Given the description of an element on the screen output the (x, y) to click on. 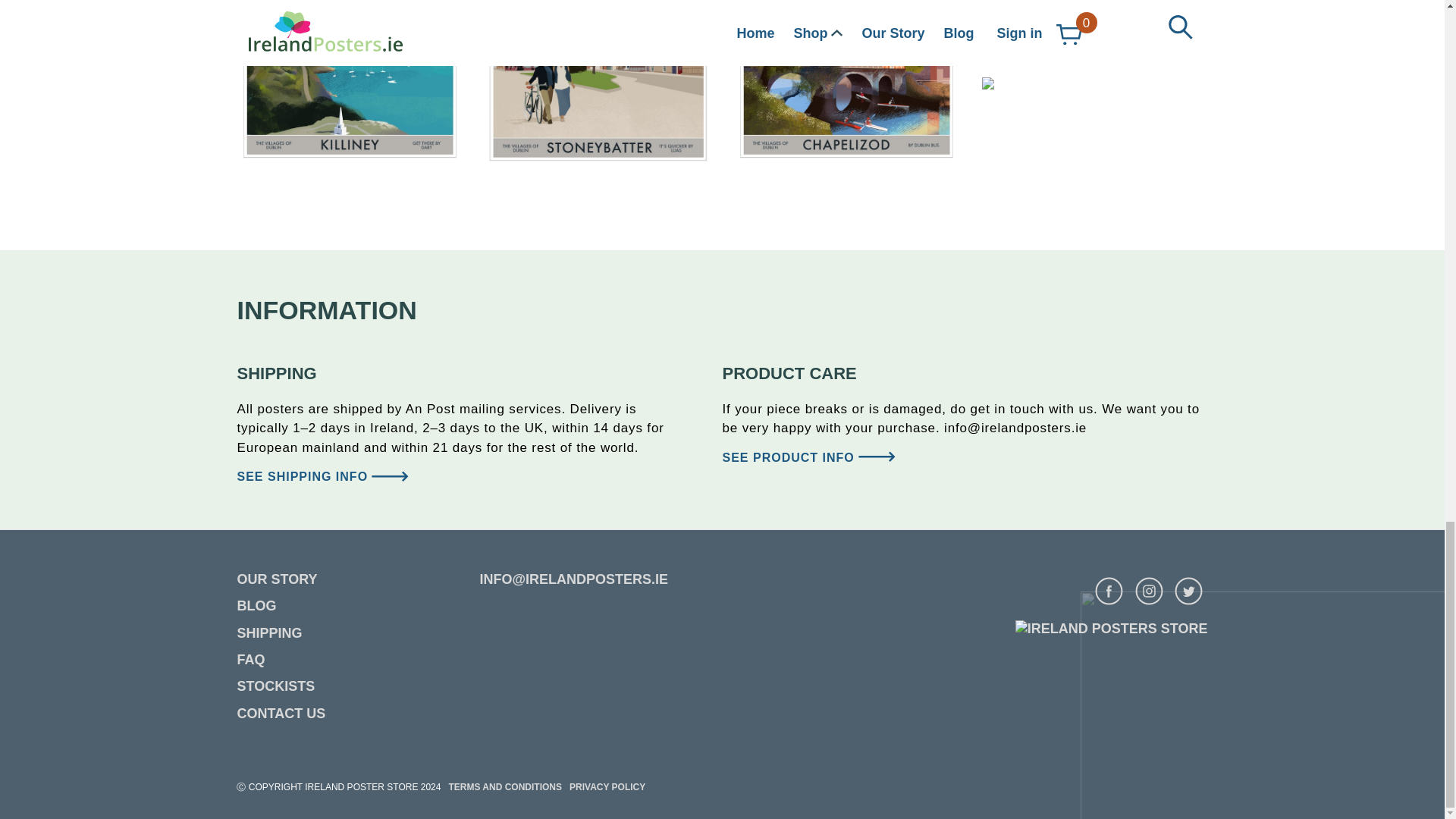
Killiney (349, 84)
Chapelizod (846, 84)
Stoneybatter (597, 84)
Dundrum (1094, 83)
